Given the description of an element on the screen output the (x, y) to click on. 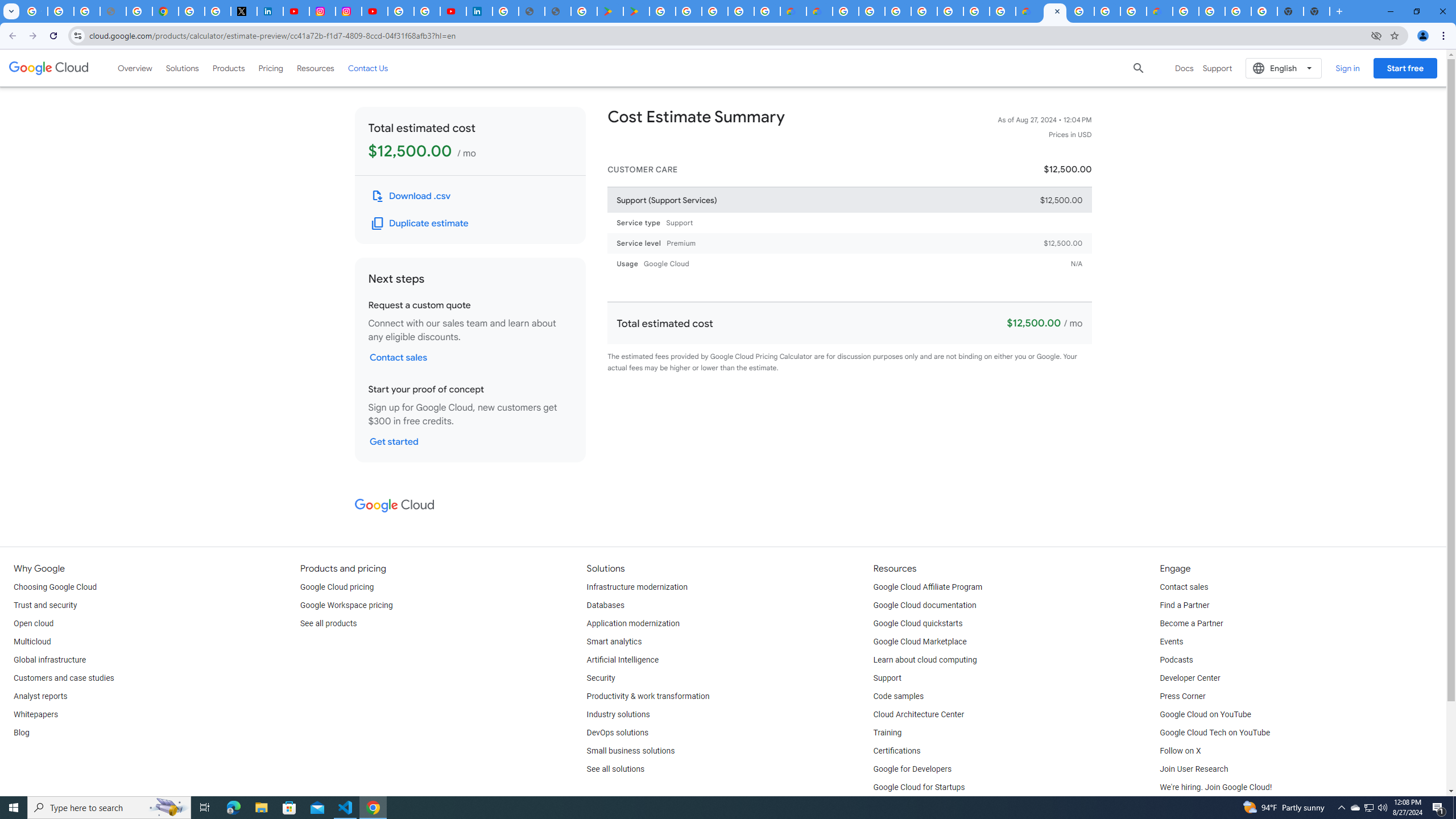
Google Cloud Platform (976, 11)
Get started (393, 441)
Contact sales (1183, 587)
Databases (605, 605)
Cloud Architecture Center (918, 714)
Application modernization (632, 624)
Sign in - Google Accounts (400, 11)
See all products (327, 624)
Security (600, 678)
Global infrastructure (49, 660)
